Given the description of an element on the screen output the (x, y) to click on. 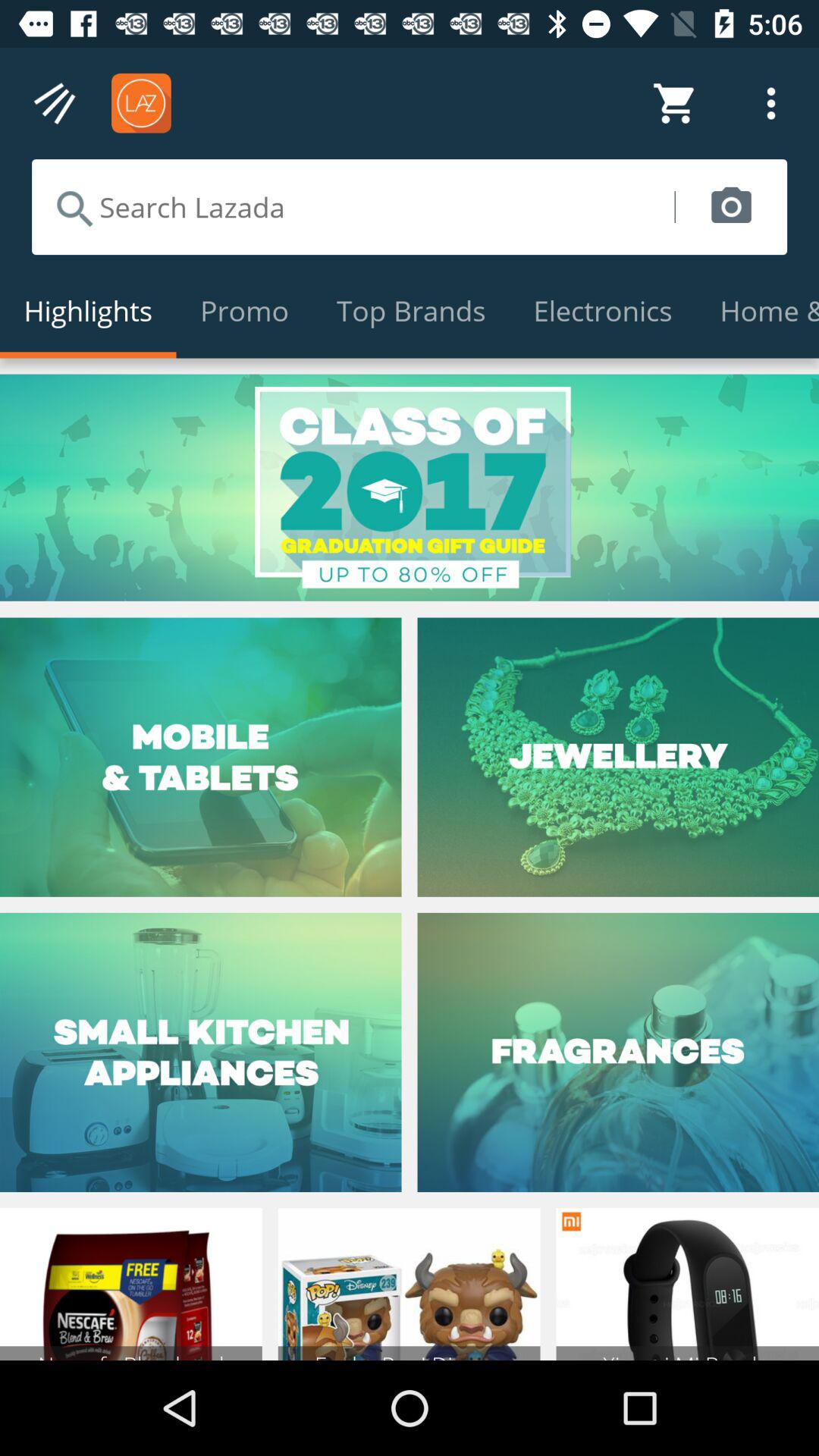
search (352, 206)
